Given the description of an element on the screen output the (x, y) to click on. 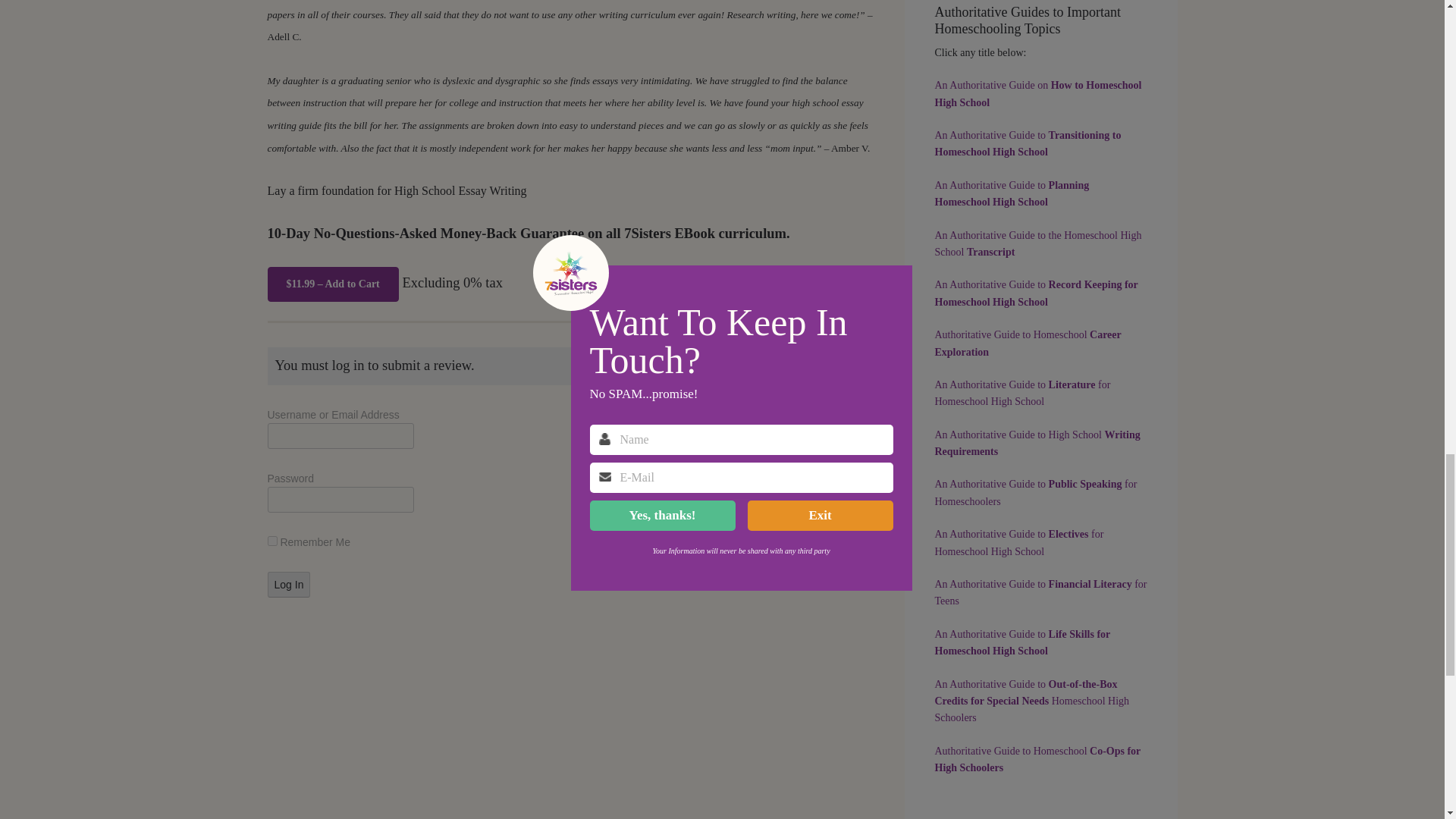
forever (271, 541)
Log In (288, 584)
